Given the description of an element on the screen output the (x, y) to click on. 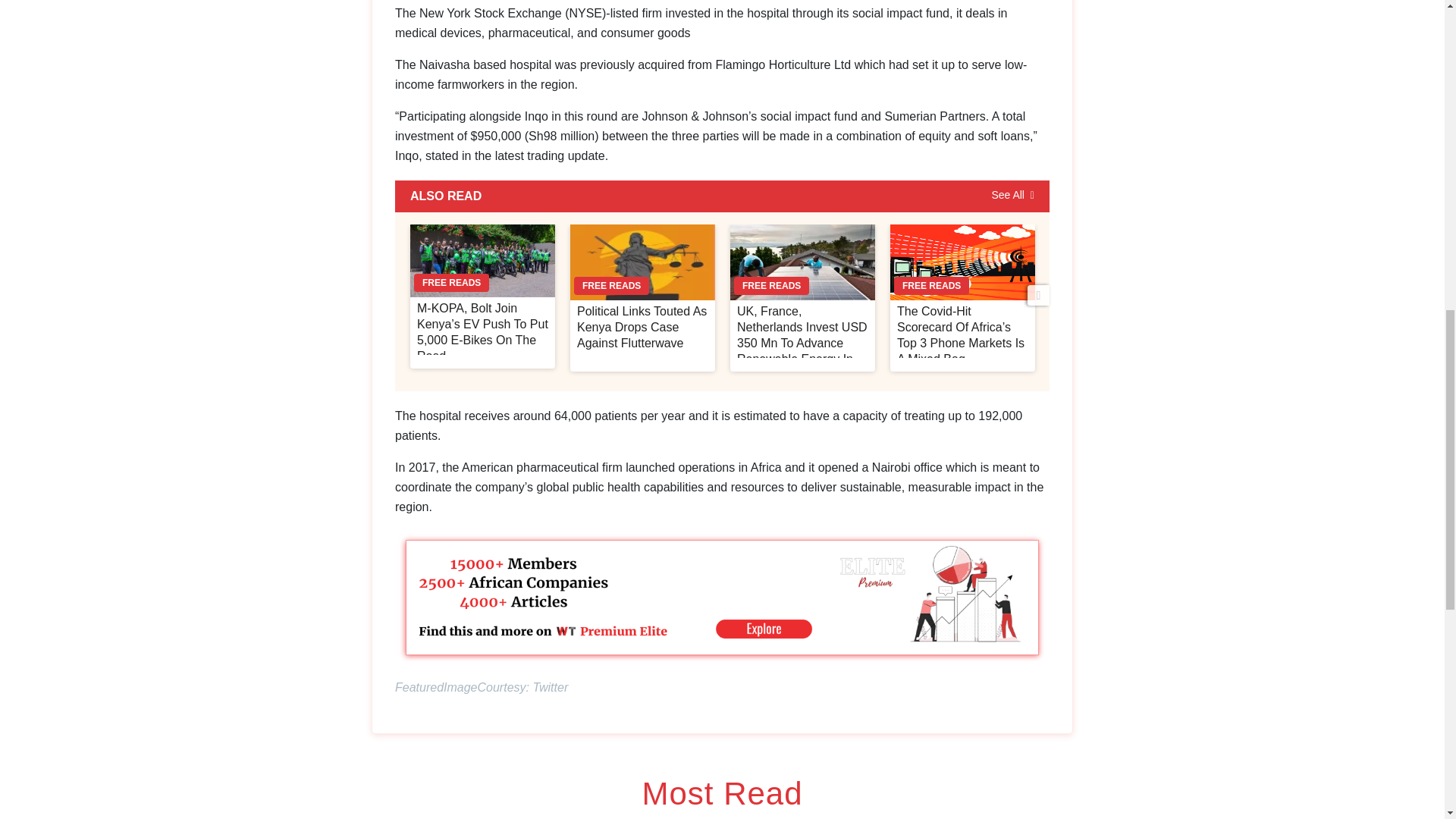
FREE READS (802, 262)
FREE READS (642, 262)
See All (1012, 196)
FREE READS (482, 260)
